Given the description of an element on the screen output the (x, y) to click on. 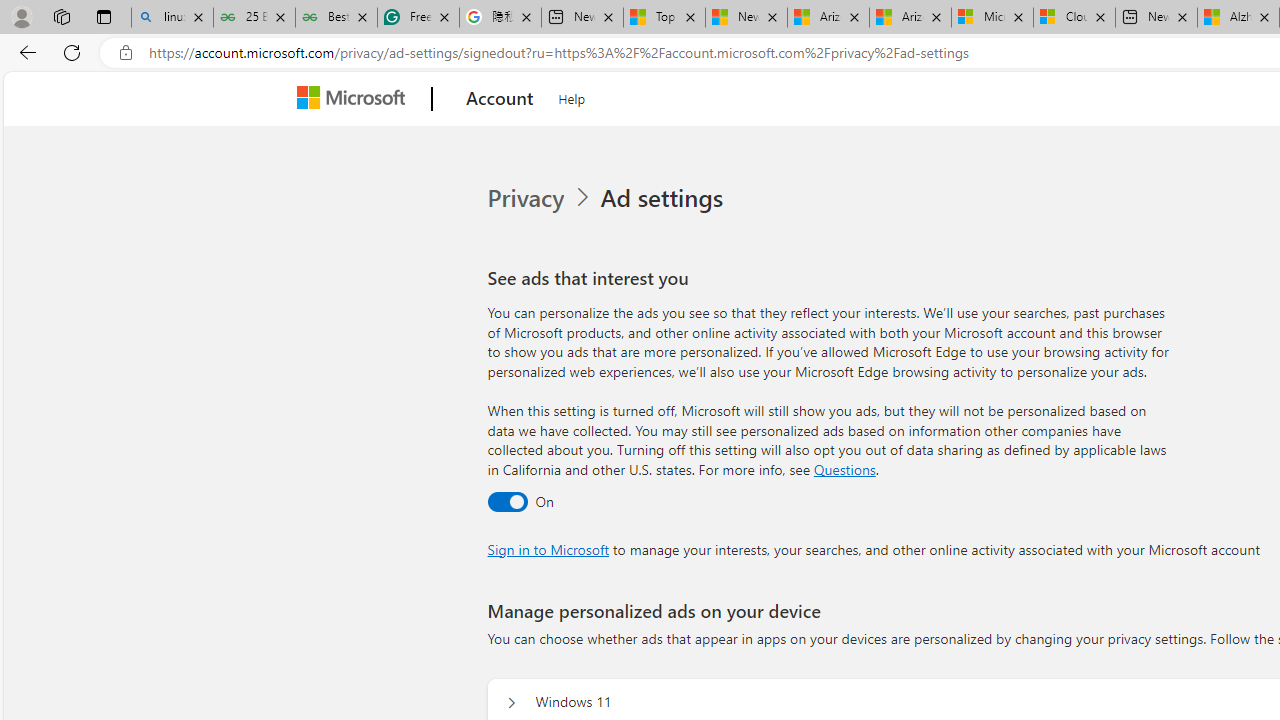
Best SSL Certificates Provider in India - GeeksforGeeks (336, 17)
Manage personalized ads on your device Windows 11 (511, 702)
Ad settings toggle (506, 501)
Sign in to Microsoft (548, 548)
